Given the description of an element on the screen output the (x, y) to click on. 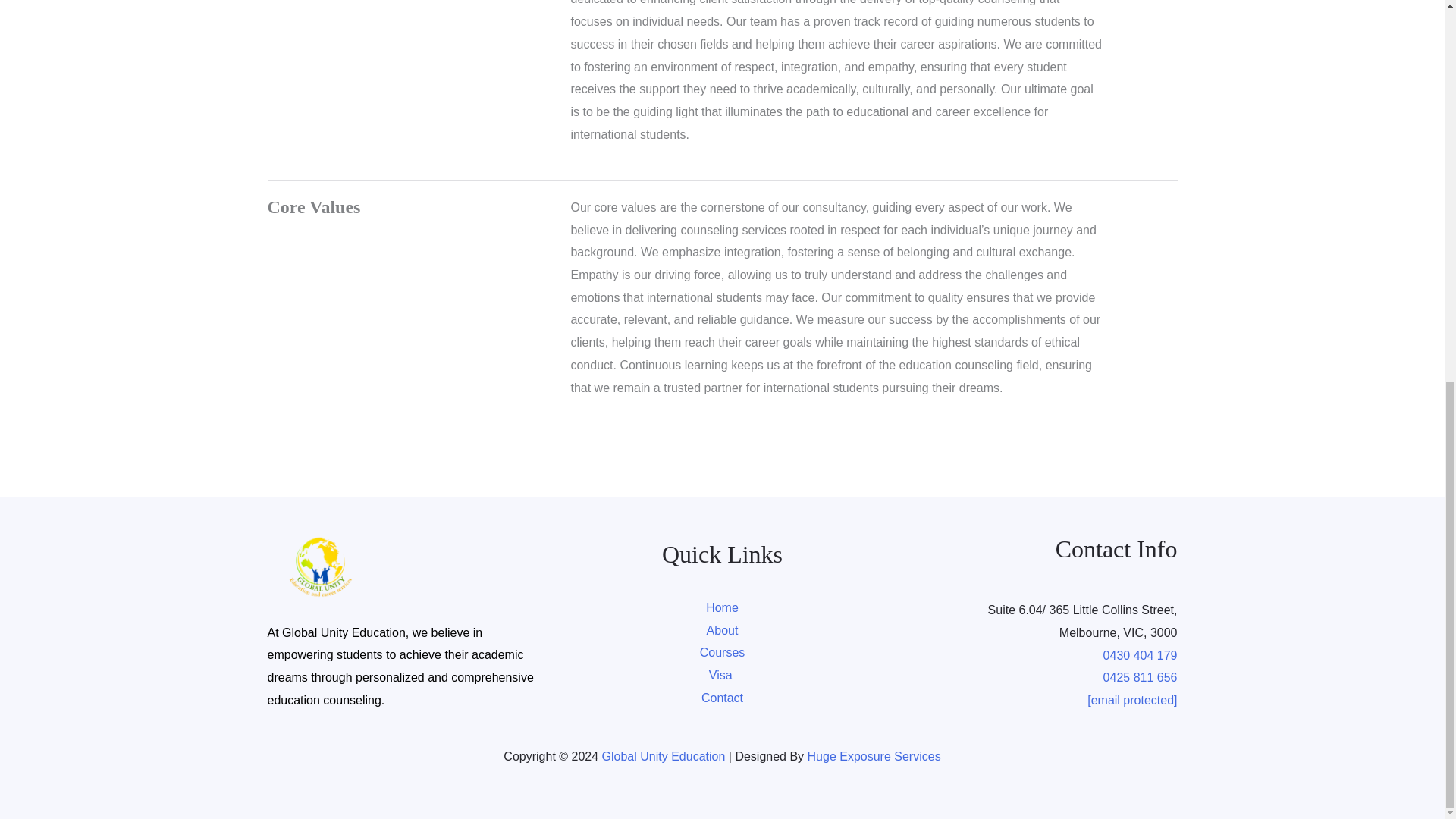
0430 404 179 (1140, 655)
Global Unity Education (663, 756)
0425 811 (1130, 676)
Visa (722, 675)
About (722, 630)
Courses (722, 652)
656 (1167, 676)
Home (722, 607)
Huge Exposure Services (874, 756)
Contact (721, 697)
